Given the description of an element on the screen output the (x, y) to click on. 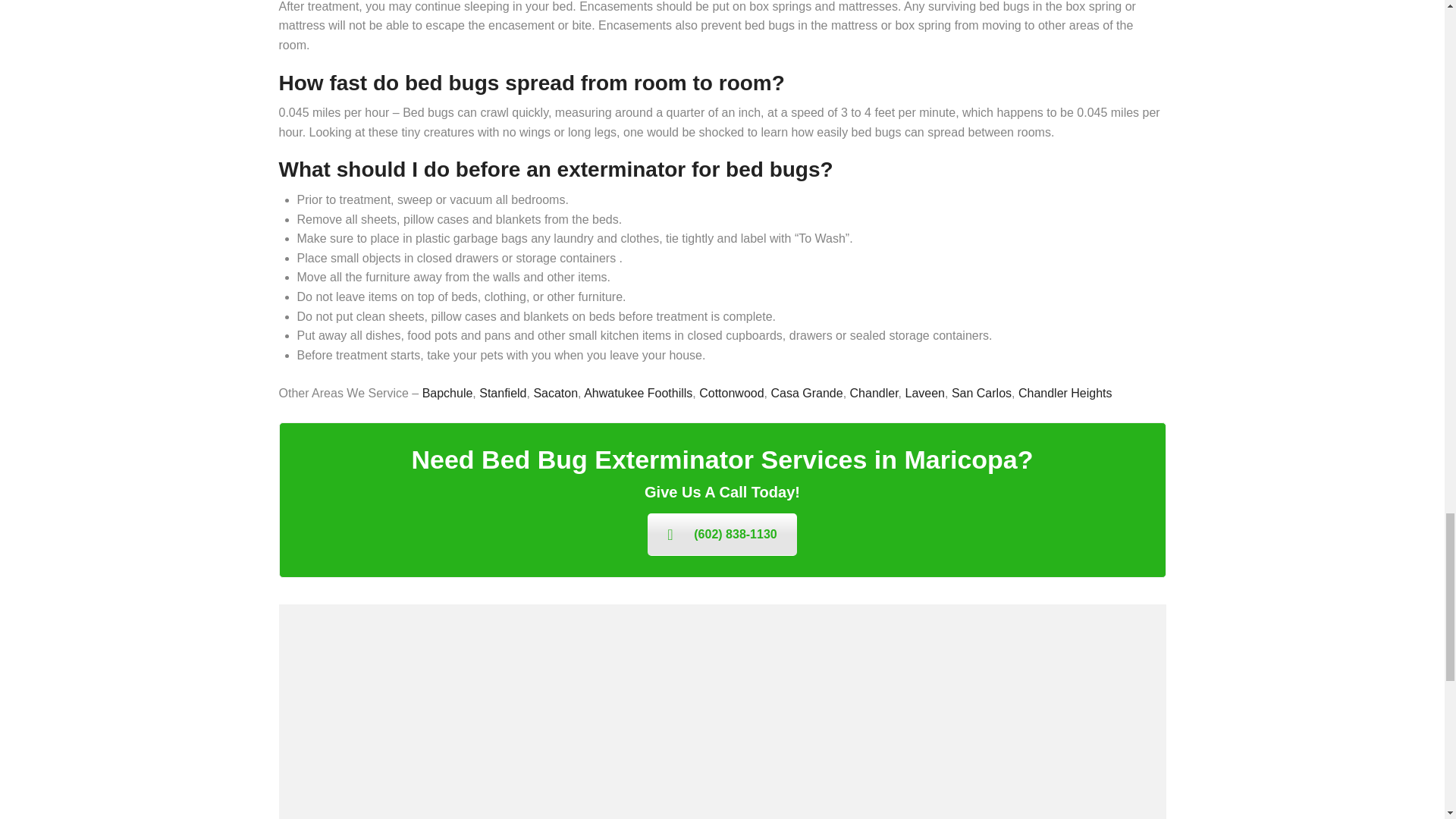
Stanfield (502, 392)
Bapchule Bed Bug Exterminator (447, 392)
Chandler Bed Bug Exterminator (874, 392)
Sacaton (555, 392)
Laveen Bed Bug Exterminator (924, 392)
Casa Grande Bed Bug Exterminator (806, 392)
Chandler Heights Bed Bug Exterminator (1064, 392)
San Carlos Bed Bug Exterminator (981, 392)
Ahwatukee Foothills Bed Bug Exterminator (638, 392)
Bapchule (447, 392)
Sacaton Bed Bug Exterminator (555, 392)
Cottonwood Bed Bug Exterminator (730, 392)
Ahwatukee Foothills (638, 392)
Stanfield Bed Bug Exterminator (502, 392)
Cottonwood (730, 392)
